Given the description of an element on the screen output the (x, y) to click on. 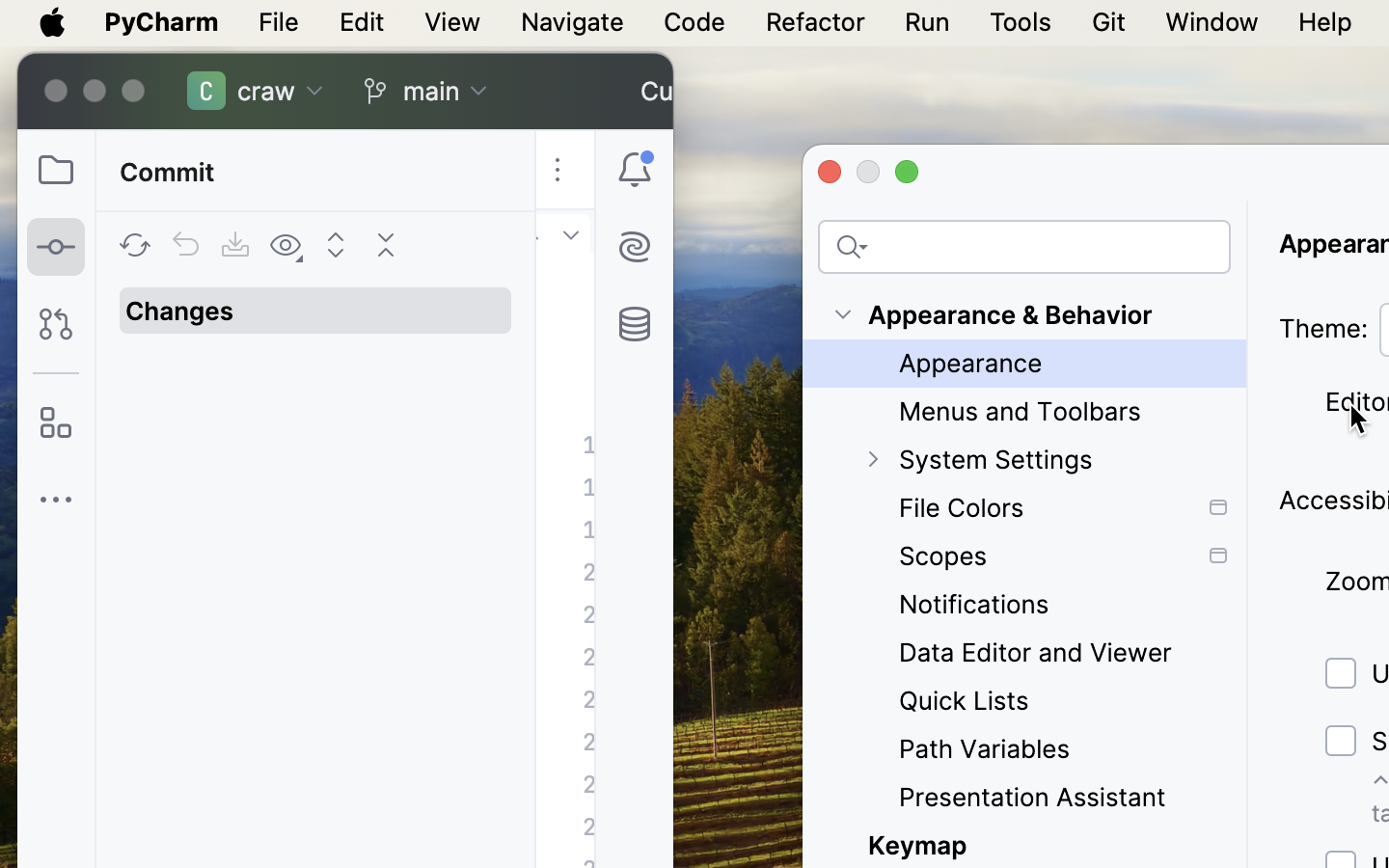
Theme: Element type: AXStaticText (1323, 328)
